Given the description of an element on the screen output the (x, y) to click on. 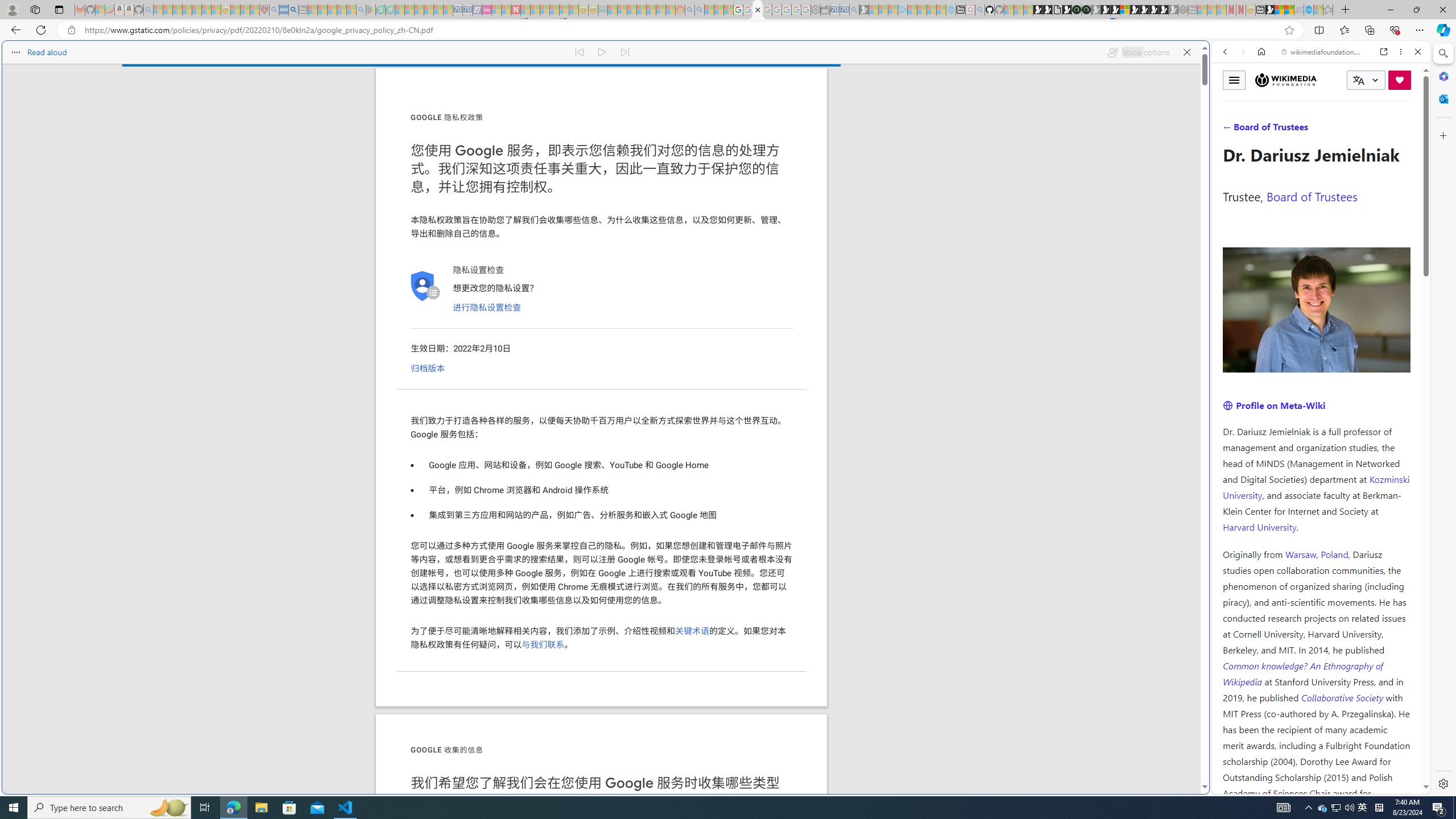
Sign in to your account (1124, 9)
Search Filter, WEB (1230, 129)
Future Focus Report 2024 (1085, 9)
CURRENT LANGUAGE: (1366, 80)
